Given the description of an element on the screen output the (x, y) to click on. 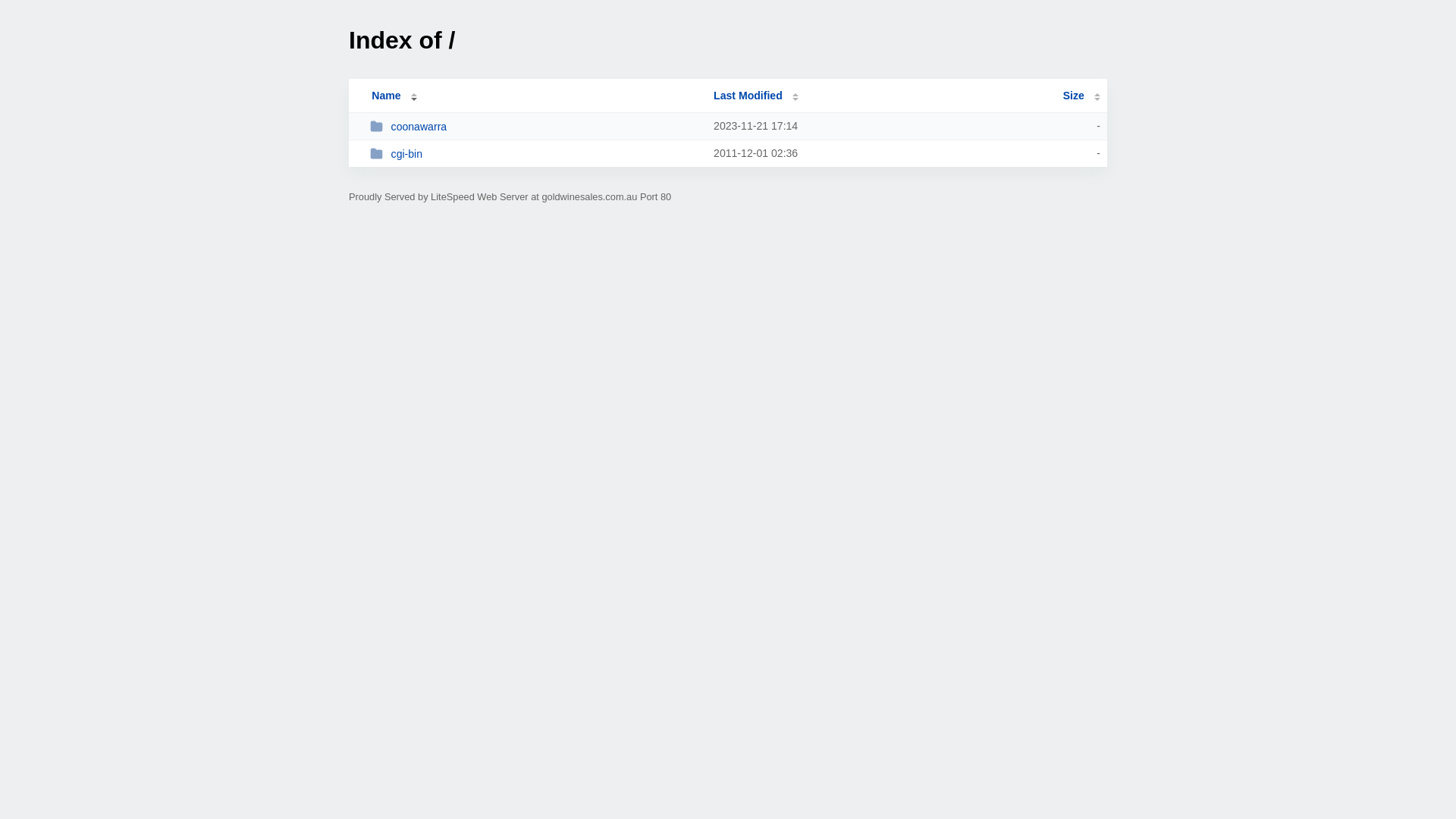
Name Element type: text (385, 95)
Size Element type: text (1081, 95)
coonawarra Element type: text (534, 125)
cgi-bin Element type: text (534, 153)
Last Modified Element type: text (755, 95)
